Given the description of an element on the screen output the (x, y) to click on. 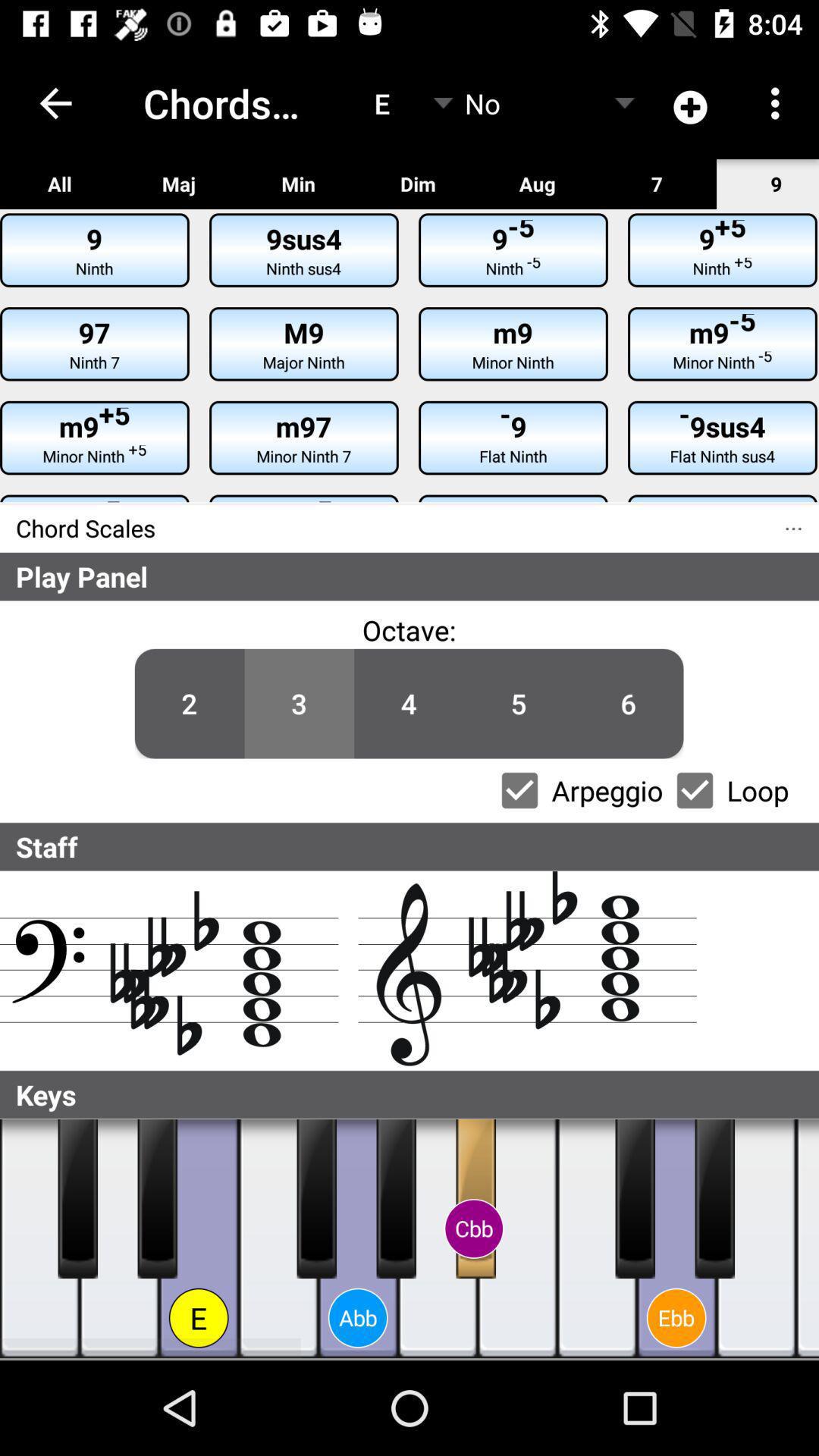
tune (119, 1238)
